Given the description of an element on the screen output the (x, y) to click on. 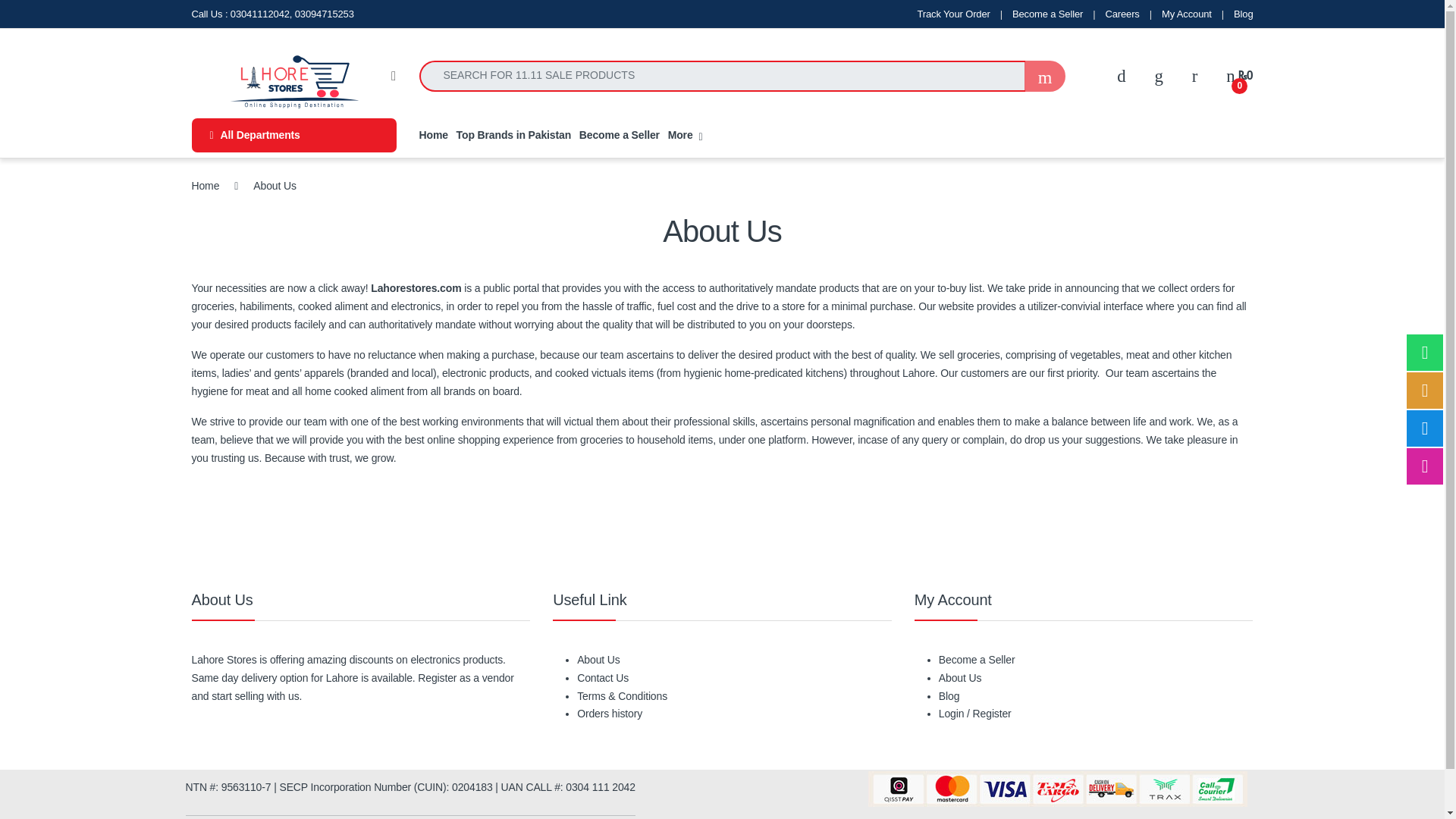
Track Your Order (953, 13)
Become a Seller (1047, 13)
My Account (1186, 13)
Careers (1121, 13)
Call Us : 03041112042, 03094715253 (271, 13)
Become a Seller (1047, 13)
My Account (1186, 13)
Careers (1121, 13)
Track Your Order (953, 13)
Call Us : 03041112042, 03094715253 (271, 13)
